Given the description of an element on the screen output the (x, y) to click on. 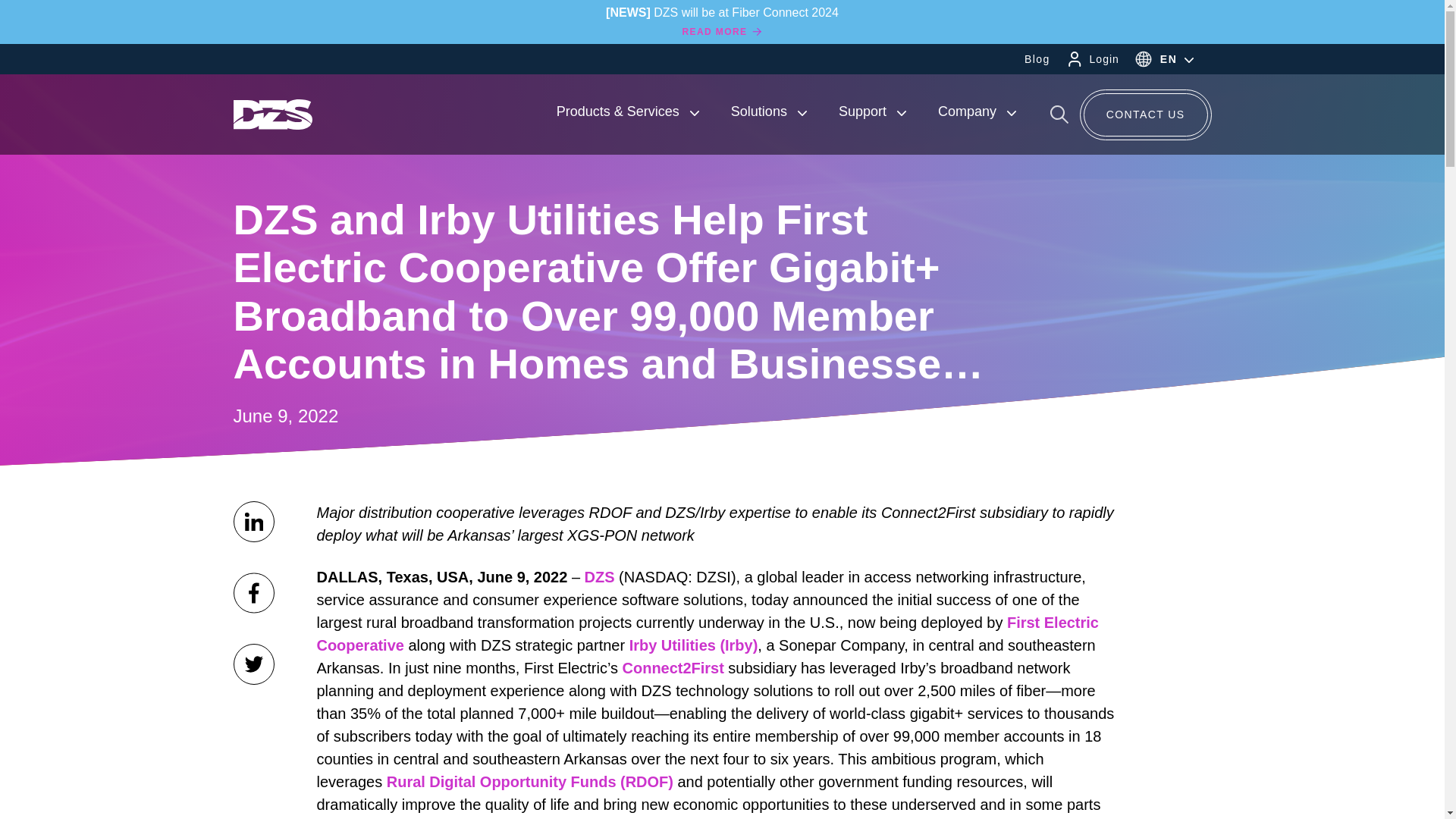
Login (1104, 59)
Blog (1037, 59)
READ MORE (722, 31)
